Given the description of an element on the screen output the (x, y) to click on. 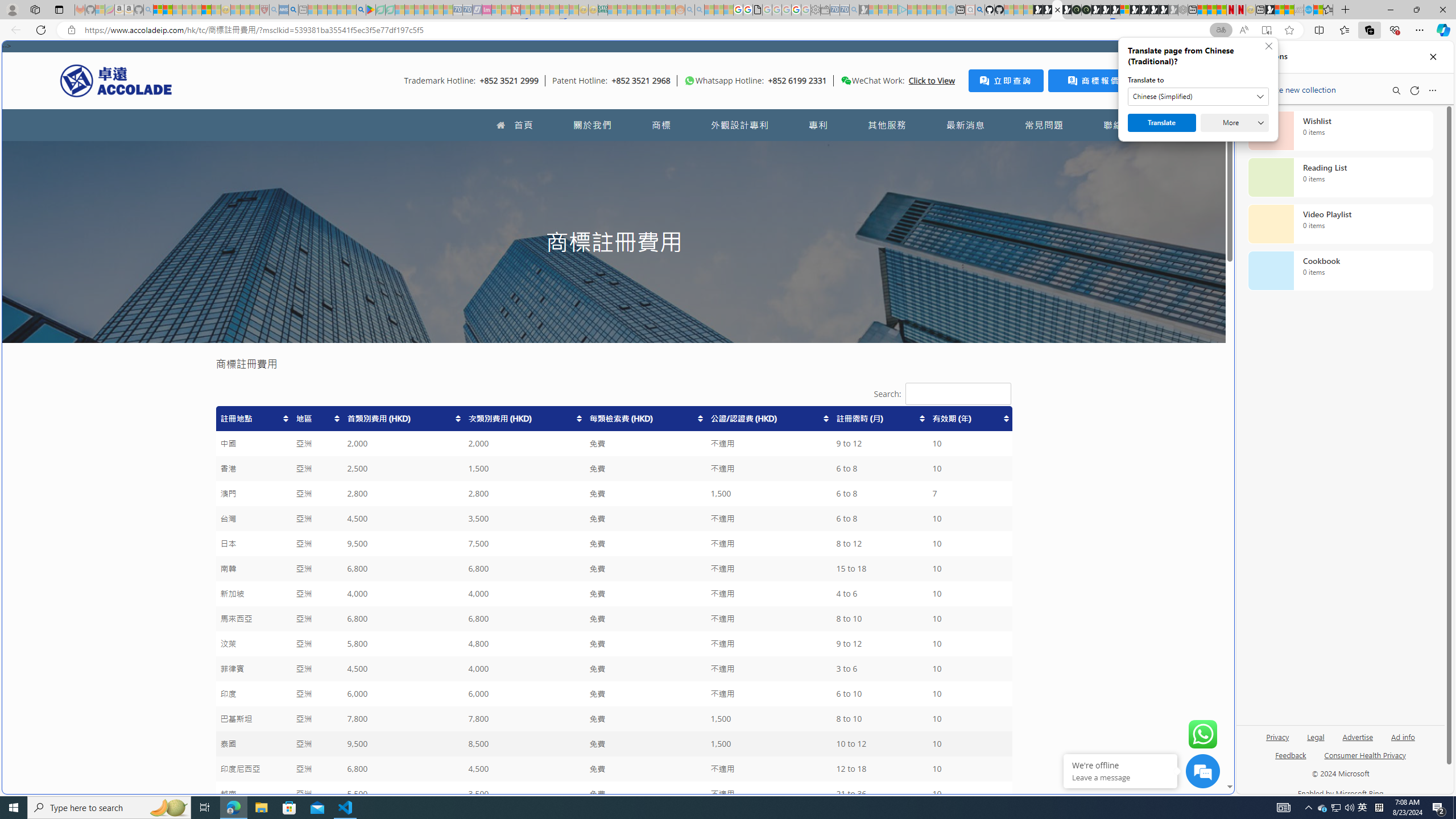
Consumer Health Privacy (1364, 759)
Bluey: Let's Play! - Apps on Google Play (370, 9)
Enter Immersive Reader (F9) (1266, 29)
NCL Adult Asthma Inhaler Choice Guideline - Sleeping (283, 9)
Advertise (1358, 741)
EN (1193, 124)
Future Focus Report 2024 (1085, 9)
